Given the description of an element on the screen output the (x, y) to click on. 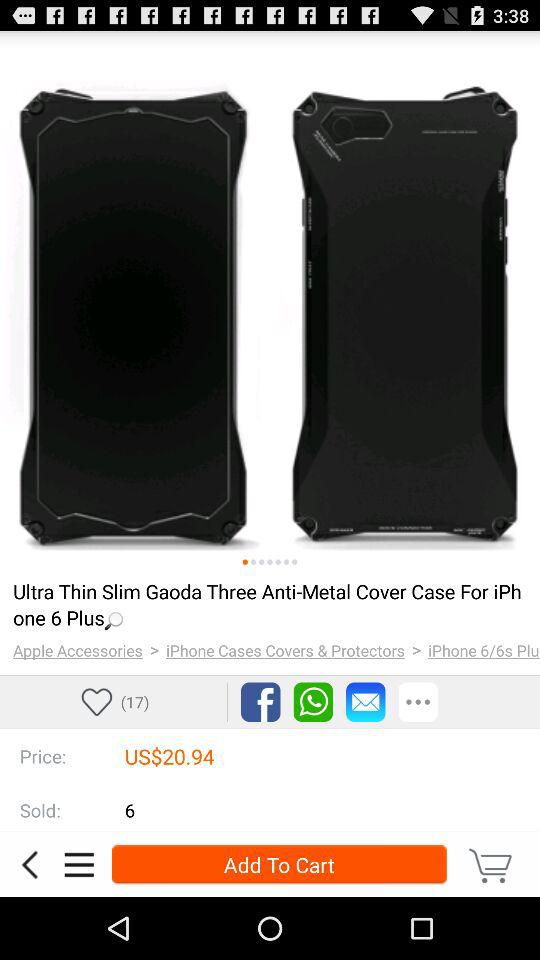
sharing via whatsapp option (313, 701)
